Given the description of an element on the screen output the (x, y) to click on. 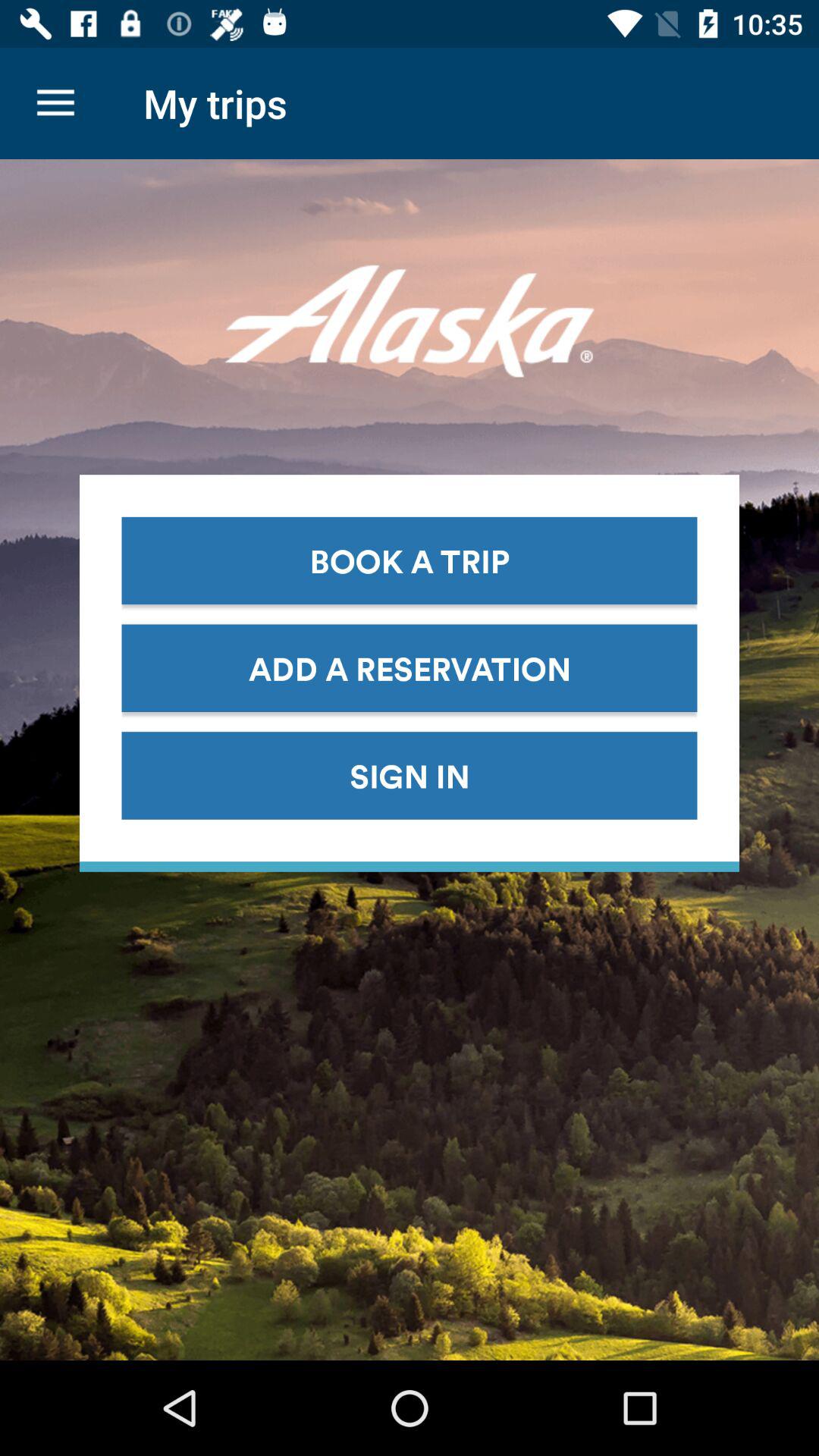
scroll until add a reservation icon (409, 668)
